Given the description of an element on the screen output the (x, y) to click on. 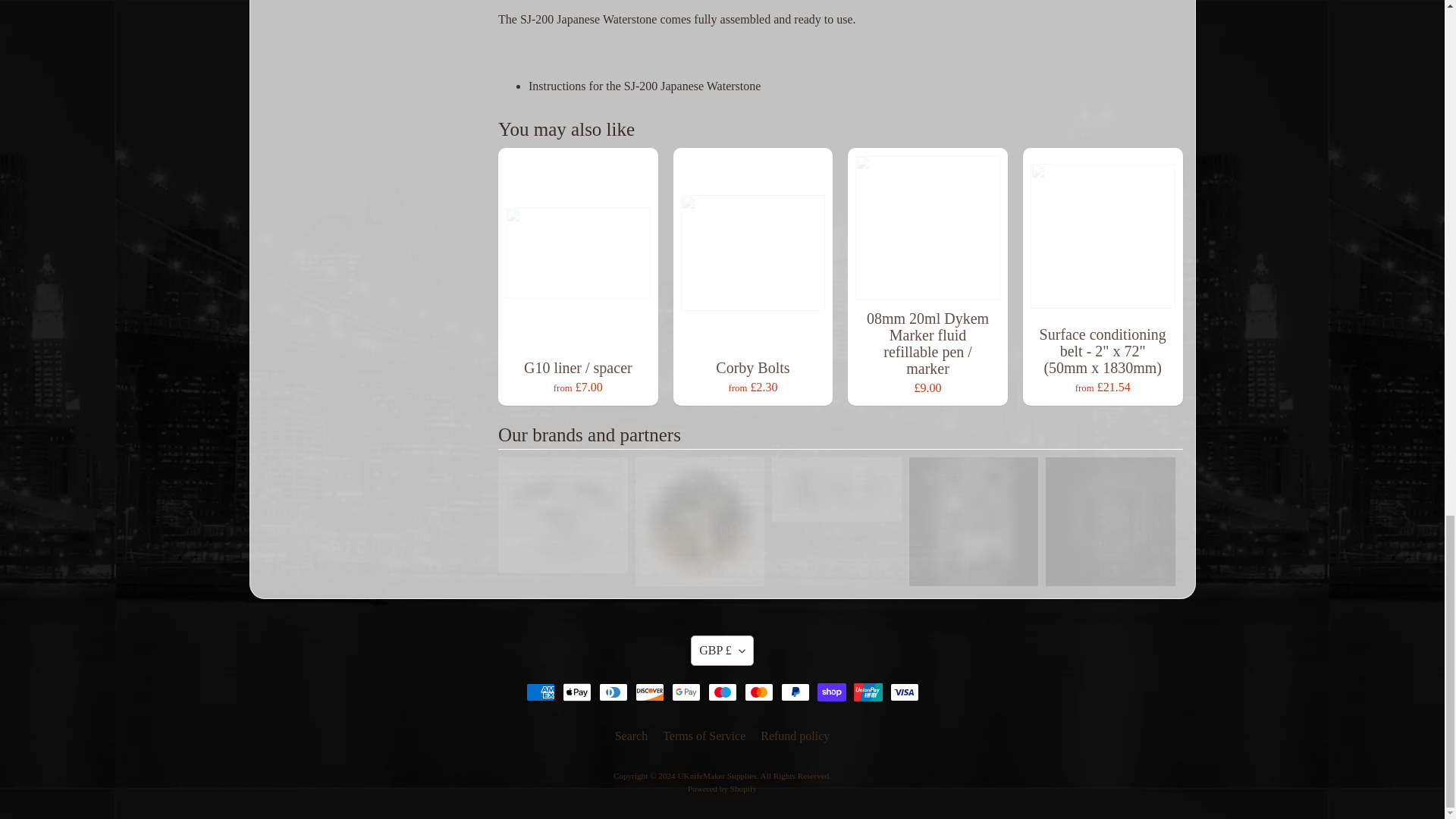
Google Pay (685, 692)
Visa (903, 692)
Shop Pay (830, 692)
Mastercard (758, 692)
Apple Pay (576, 692)
Diners Club (612, 692)
PayPal (794, 692)
Maestro (721, 692)
American Express (539, 692)
Union Pay (867, 692)
